Given the description of an element on the screen output the (x, y) to click on. 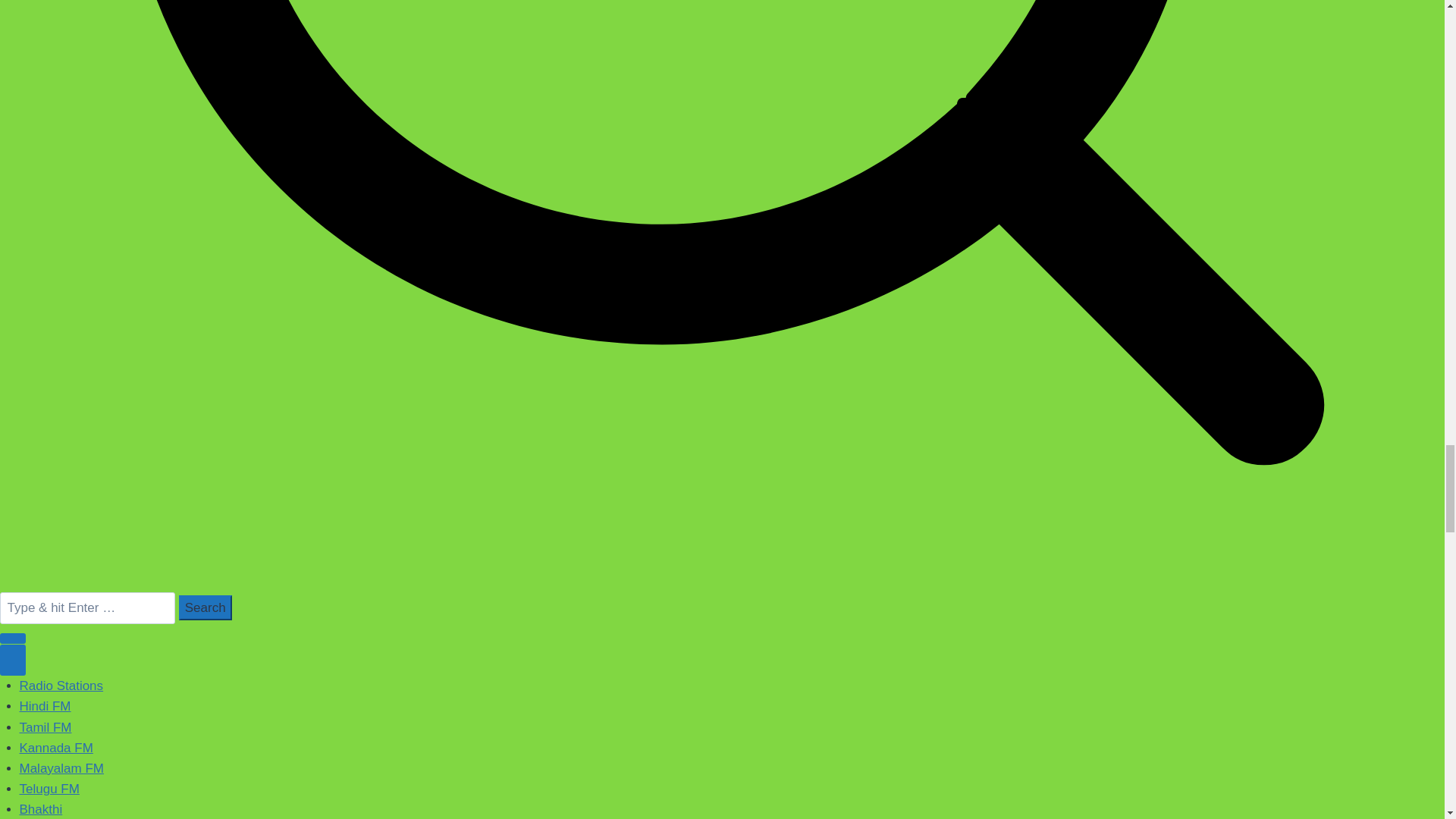
Bhakthi (41, 809)
Kannada FM (56, 748)
Search (205, 607)
Telugu FM (50, 789)
Hindi FM (45, 706)
Search for: (87, 607)
Search (205, 607)
Malayalam FM (61, 768)
Radio Stations (61, 685)
Tamil FM (45, 727)
Search (205, 607)
